Given the description of an element on the screen output the (x, y) to click on. 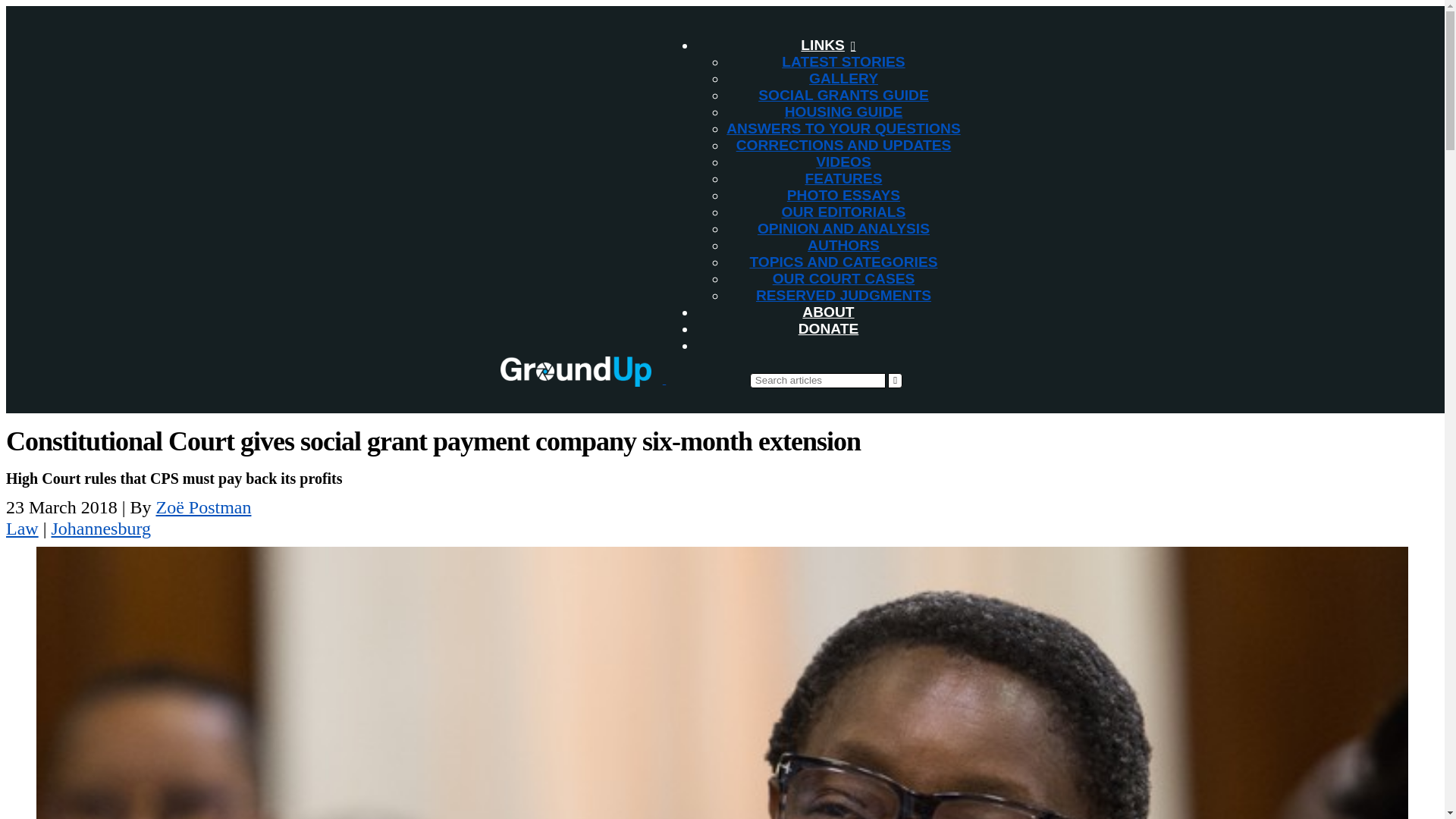
OUR EDITORIALS (843, 211)
HOUSING GUIDE (843, 111)
LINKS (828, 44)
PHOTO ESSAYS (843, 195)
DONATE (828, 328)
Law (22, 528)
Johannesburg (100, 528)
SOCIAL GRANTS GUIDE (843, 94)
VIDEOS (842, 161)
TOPICS AND CATEGORIES (843, 261)
LATEST STORIES (842, 61)
GALLERY (843, 78)
AUTHORS (843, 245)
OPINION AND ANALYSIS (843, 228)
FEATURES (843, 178)
